Given the description of an element on the screen output the (x, y) to click on. 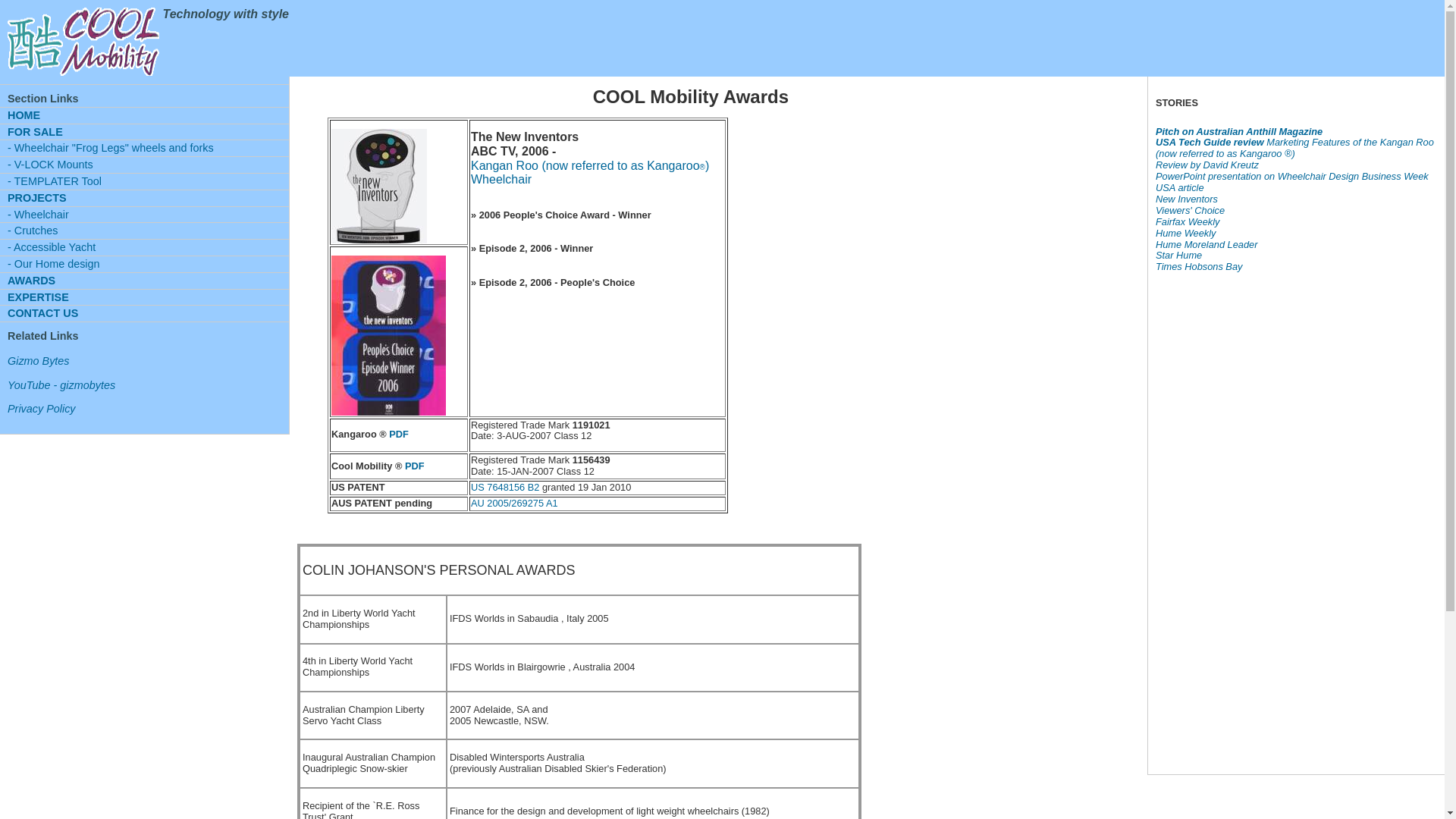
Times Hobsons Bay Element type: text (1198, 266)
- Wheelchair Element type: text (144, 214)
EXPERTISE Element type: text (144, 296)
YouTube - gizmobytes Element type: text (147, 385)
PDF Element type: text (414, 465)
- Crutches Element type: text (144, 230)
PDF Element type: text (398, 433)
Gizmo Bytes Element type: text (147, 360)
- Our Home design Element type: text (144, 263)
US 7648156 B2 Element type: text (506, 486)
Advertisement Element type: hover (1200, 517)
PROJECTS Element type: text (144, 197)
Viewers' Choice Element type: text (1189, 215)
- Wheelchair "Frog Legs" wheels and forks Element type: text (144, 147)
HOME Element type: text (144, 114)
Star Hume Element type: text (1206, 260)
Hume Moreland Leader Element type: text (1206, 249)
AU 2005/269275 A1 Element type: text (514, 502)
FOR SALE Element type: text (144, 131)
New Inventors Element type: text (1186, 204)
Business Week USA article Element type: text (1291, 181)
Hume Weekly Element type: text (1187, 238)
Pitch on Australian Anthill Magazine Element type: text (1238, 131)
PowerPoint presentation on Wheelchair Design Element type: text (1258, 176)
- Accessible Yacht Element type: text (144, 246)
Privacy Policy Element type: text (147, 408)
- V-LOCK Mounts Element type: text (144, 164)
- TEMPLATER Tool Element type: text (144, 180)
CONTACT US Element type: text (144, 312)
USA Tech Guide review Element type: text (1209, 141)
Fairfax Weekly Element type: text (1189, 227)
Review by David Kreutz Element type: text (1225, 170)
AWARDS Element type: text (144, 280)
